Given the description of an element on the screen output the (x, y) to click on. 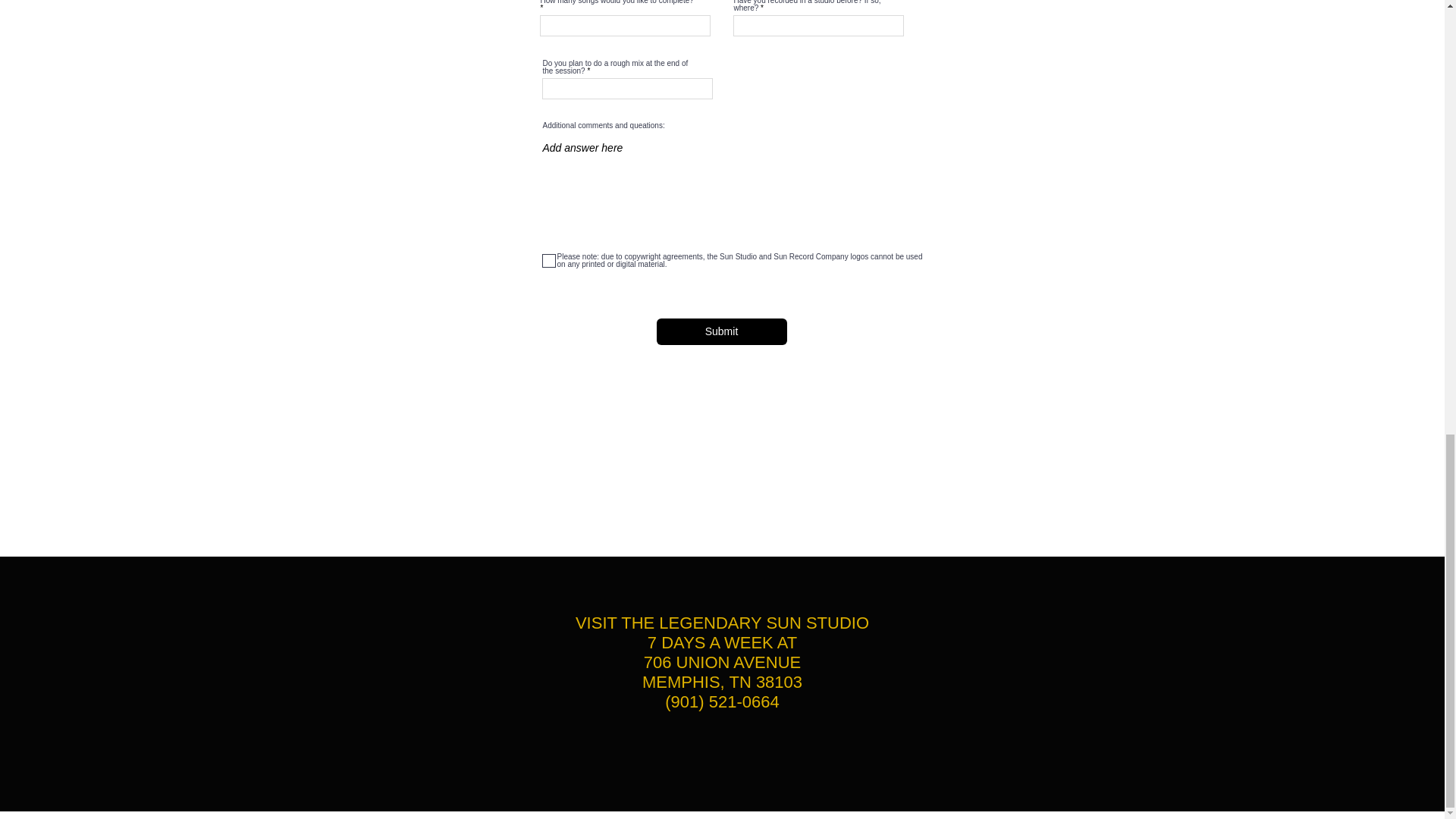
Submit (721, 331)
